Given the description of an element on the screen output the (x, y) to click on. 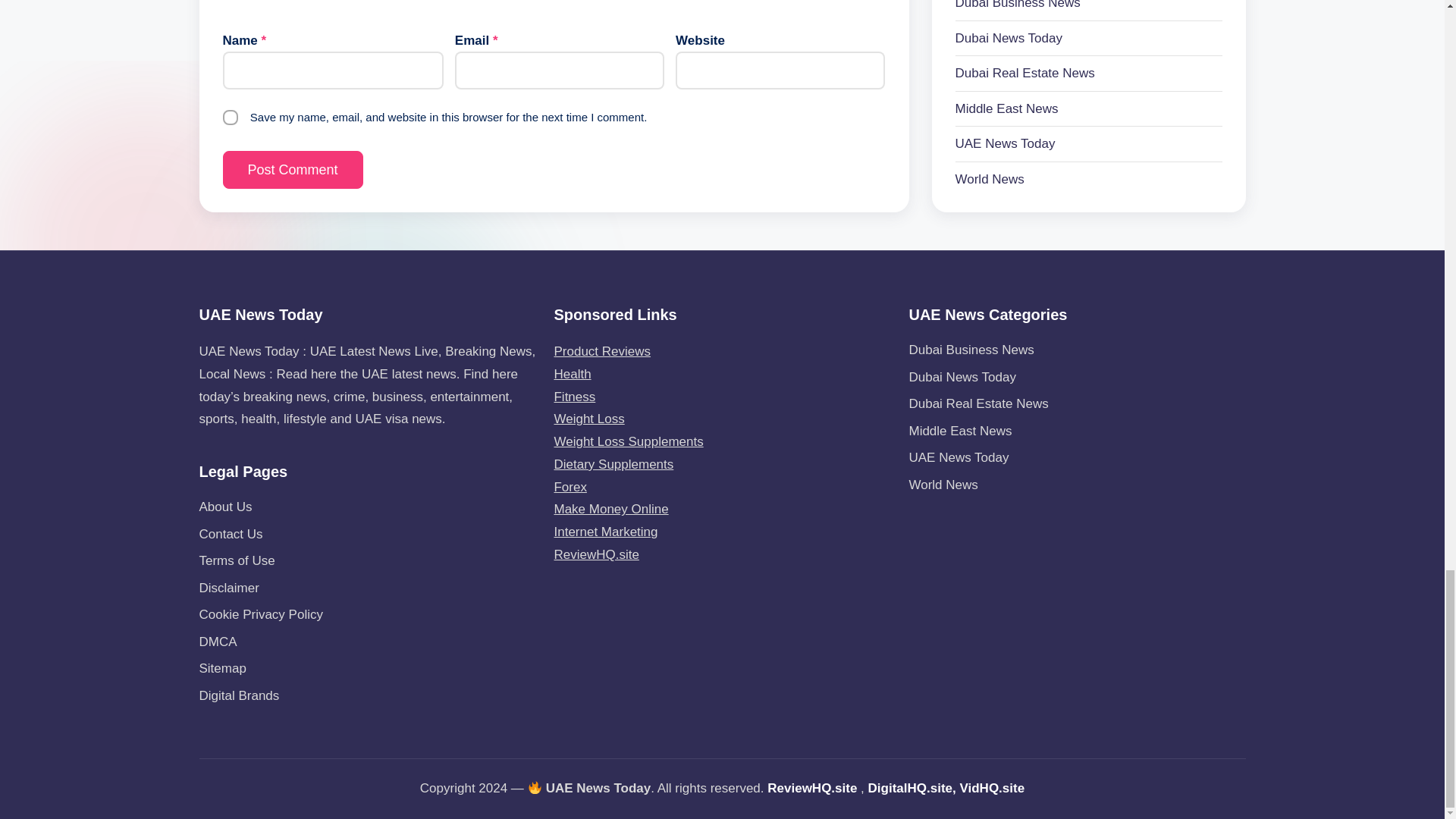
yes (230, 117)
Post Comment (292, 169)
Post Comment (292, 169)
